Given the description of an element on the screen output the (x, y) to click on. 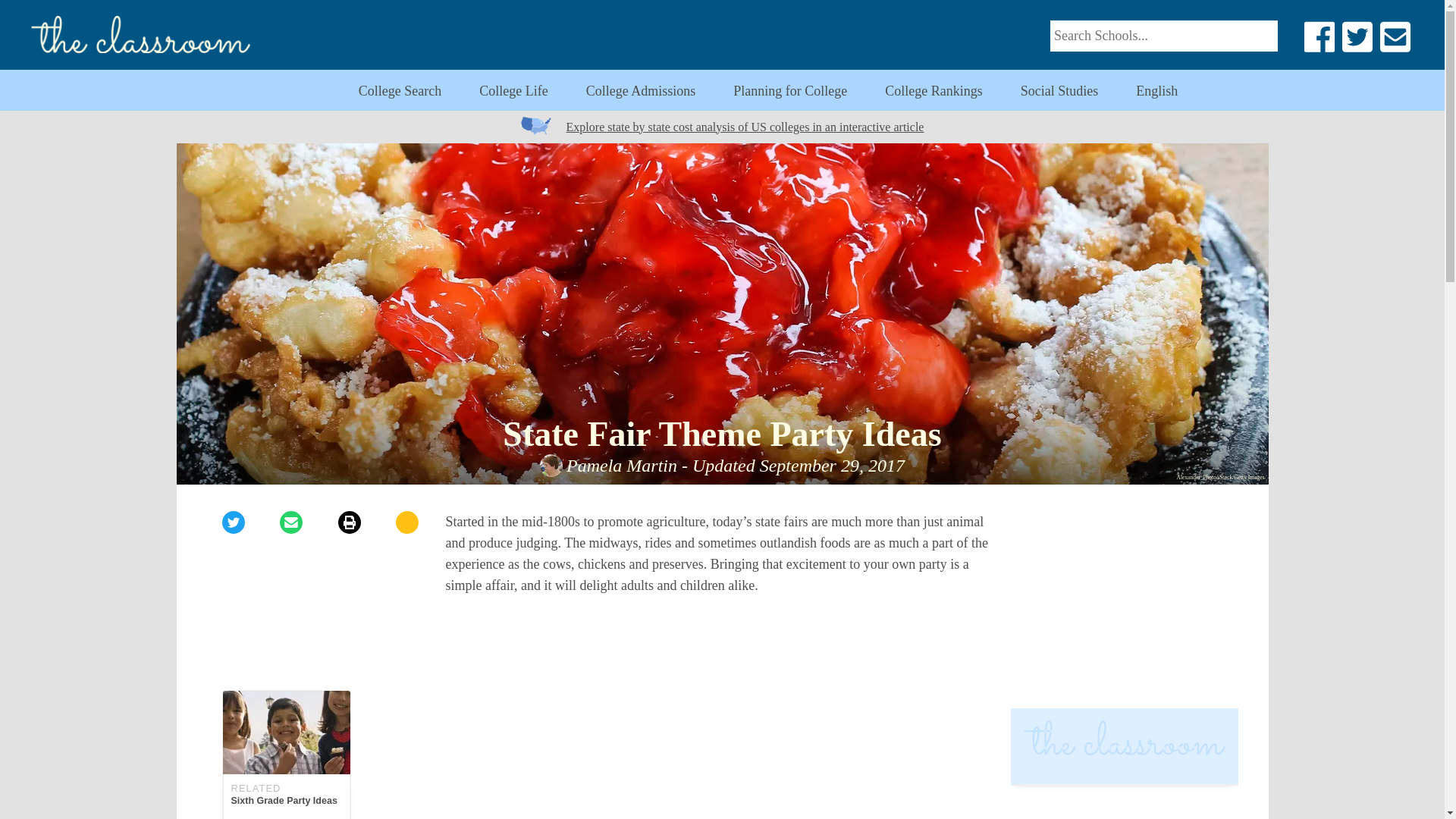
College Search (399, 91)
Advertisement (721, 756)
3rd party ad content (721, 644)
English (1156, 91)
College Life (285, 754)
Planning for College (513, 91)
3rd party ad content (790, 91)
3rd party ad content (1123, 806)
Social Studies (1123, 606)
College Admissions (1059, 91)
College Rankings (640, 91)
